Given the description of an element on the screen output the (x, y) to click on. 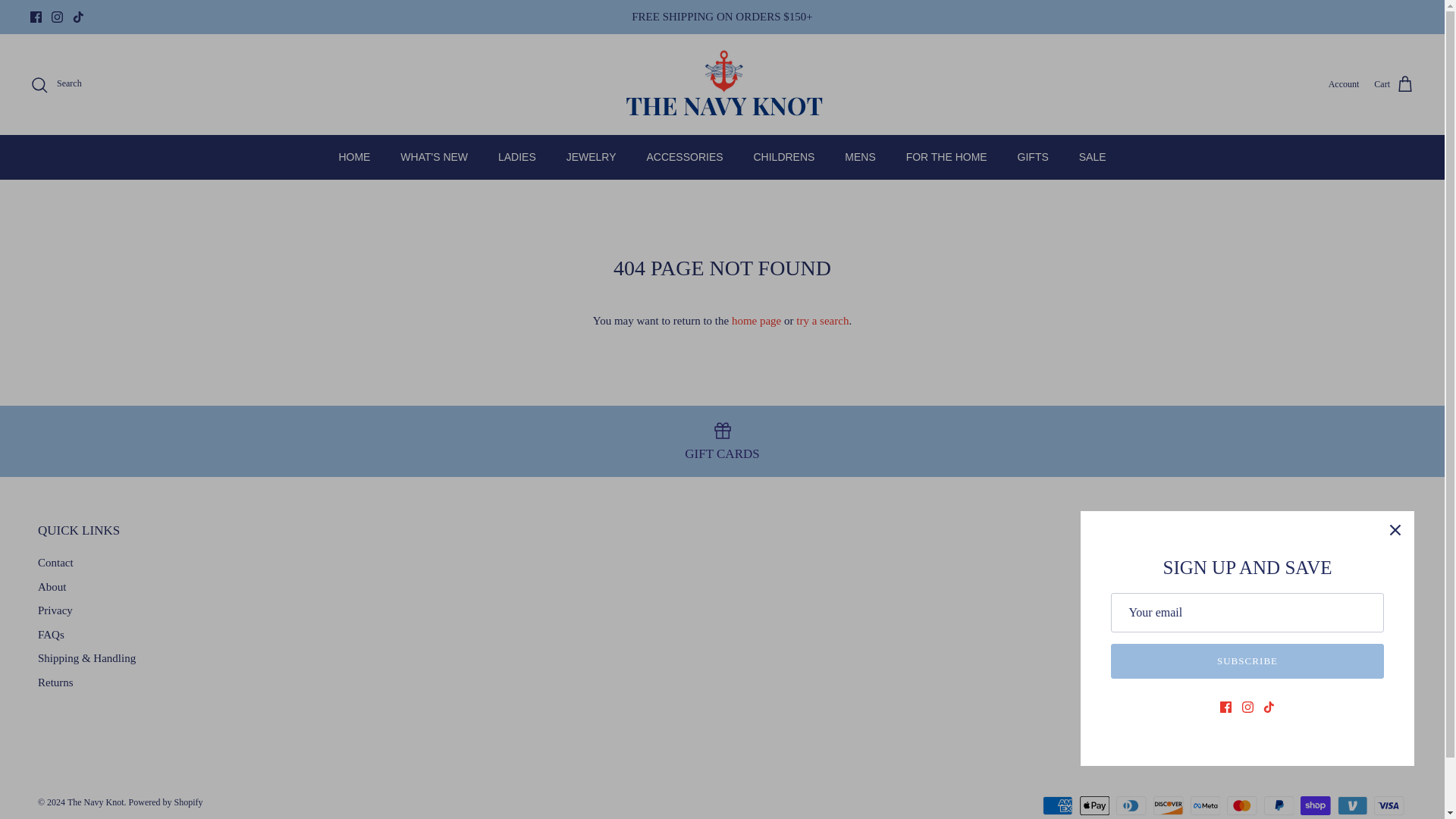
ACCESSORIES (683, 157)
Instagram (56, 16)
Diners Club (1130, 805)
Facebook (36, 16)
Mastercard (1241, 805)
HOME (354, 157)
Instagram (56, 16)
Shop Pay (1315, 805)
WHAT'S NEW (434, 157)
JEWELRY (591, 157)
Venmo (1352, 805)
Meta Pay (1205, 805)
Facebook (36, 16)
Account (1343, 83)
Search (55, 85)
